Given the description of an element on the screen output the (x, y) to click on. 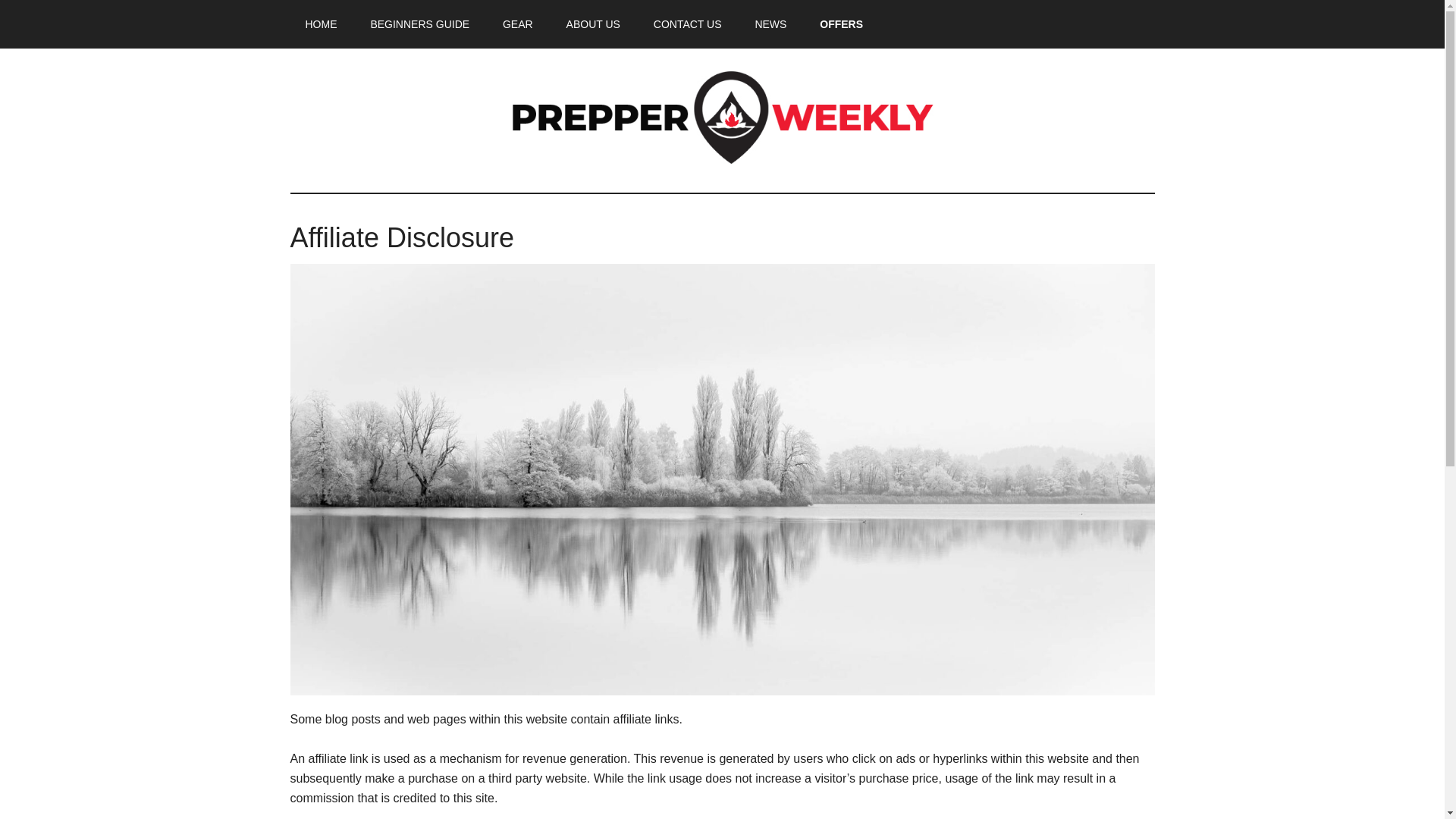
BEGINNERS GUIDE (419, 24)
HOME (320, 24)
ABOUT US (592, 24)
CONTACT US (687, 24)
GEAR (517, 24)
OFFERS (841, 24)
NEWS (770, 24)
